Given the description of an element on the screen output the (x, y) to click on. 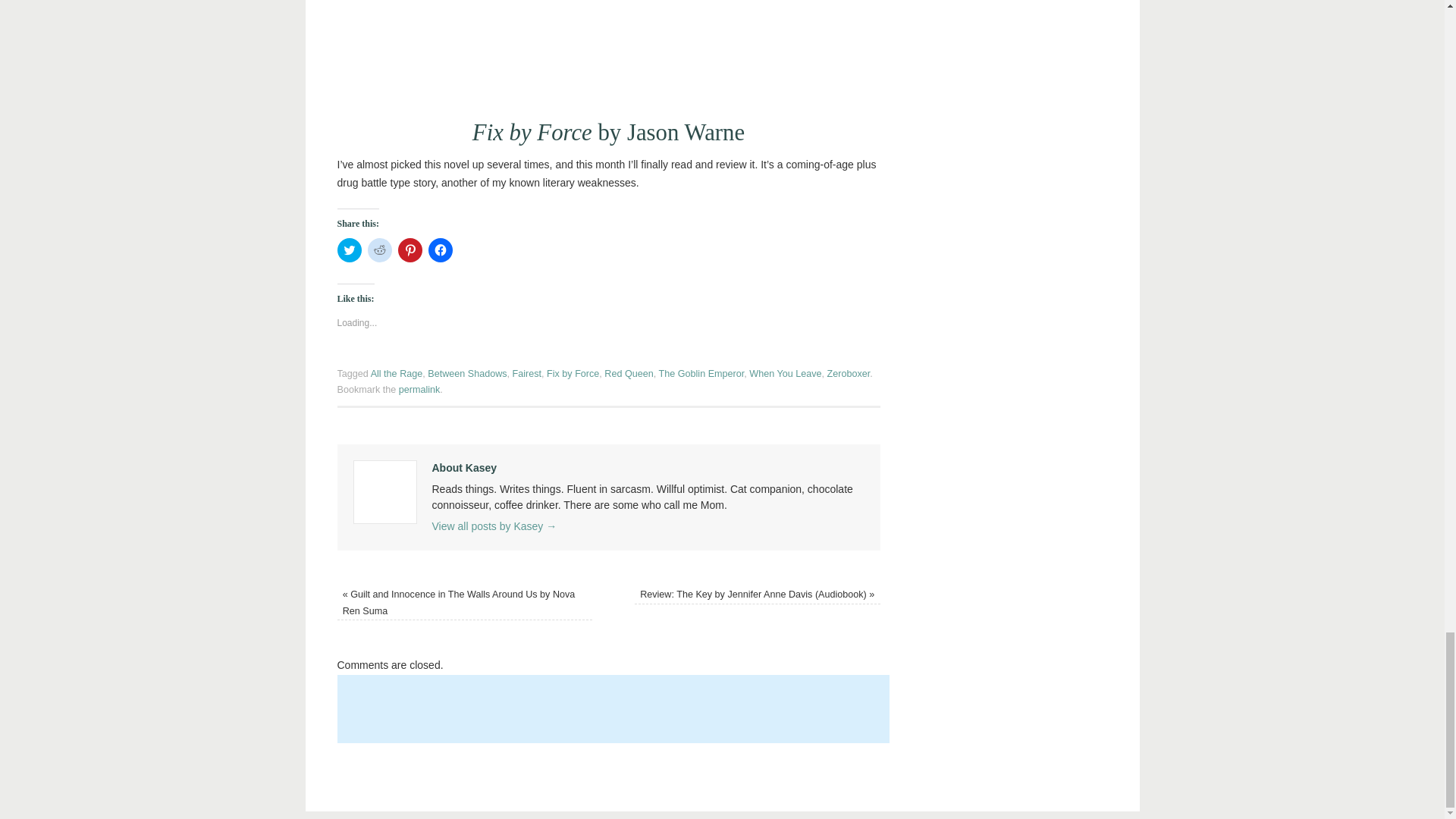
Click to share on Twitter (348, 250)
Click to share on Pinterest (409, 250)
Click to share on Reddit (378, 250)
Click to share on Facebook (439, 250)
